Given the description of an element on the screen output the (x, y) to click on. 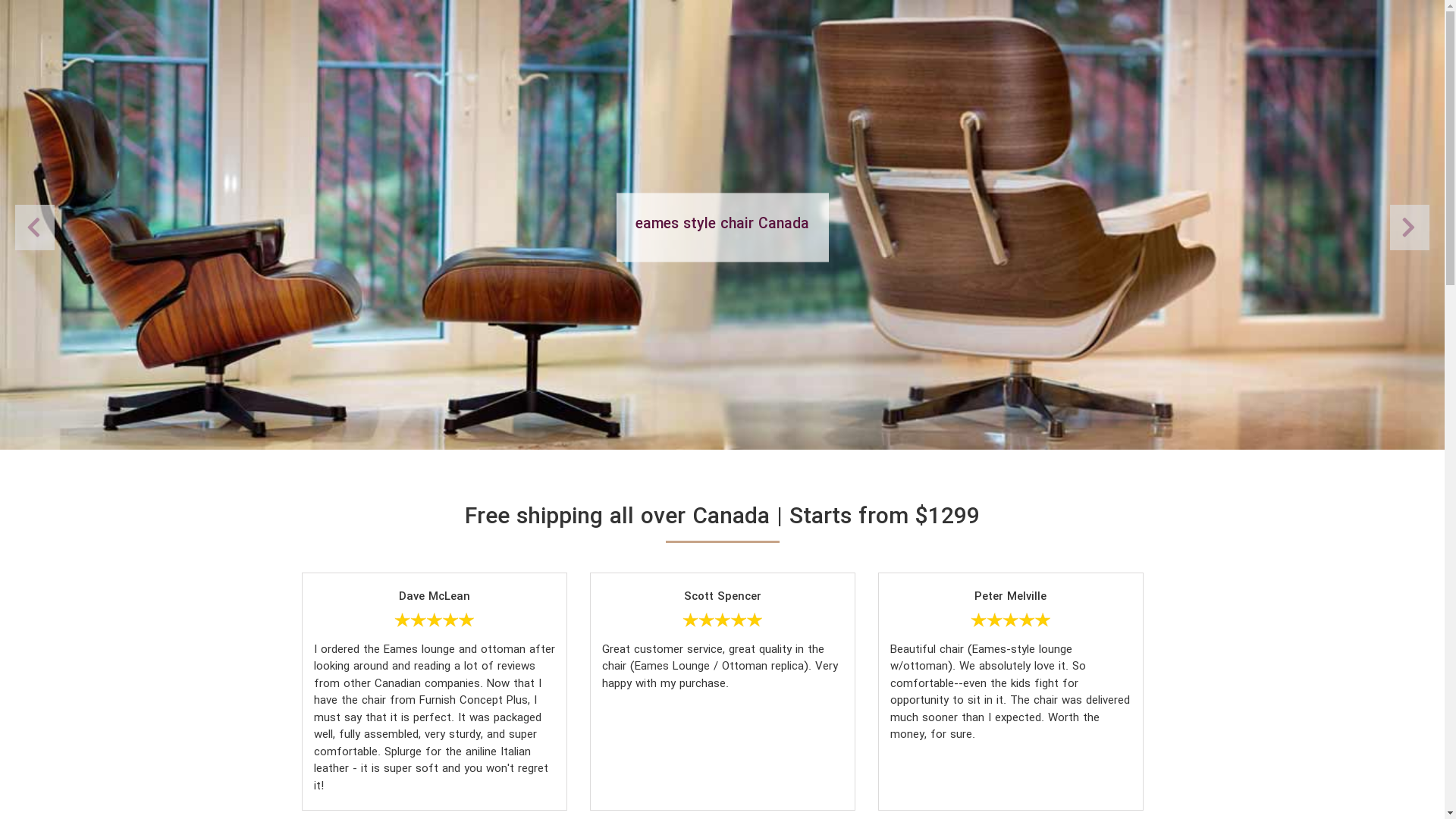
Previous Element type: text (1409, 227)
Next Element type: text (34, 227)
